Given the description of an element on the screen output the (x, y) to click on. 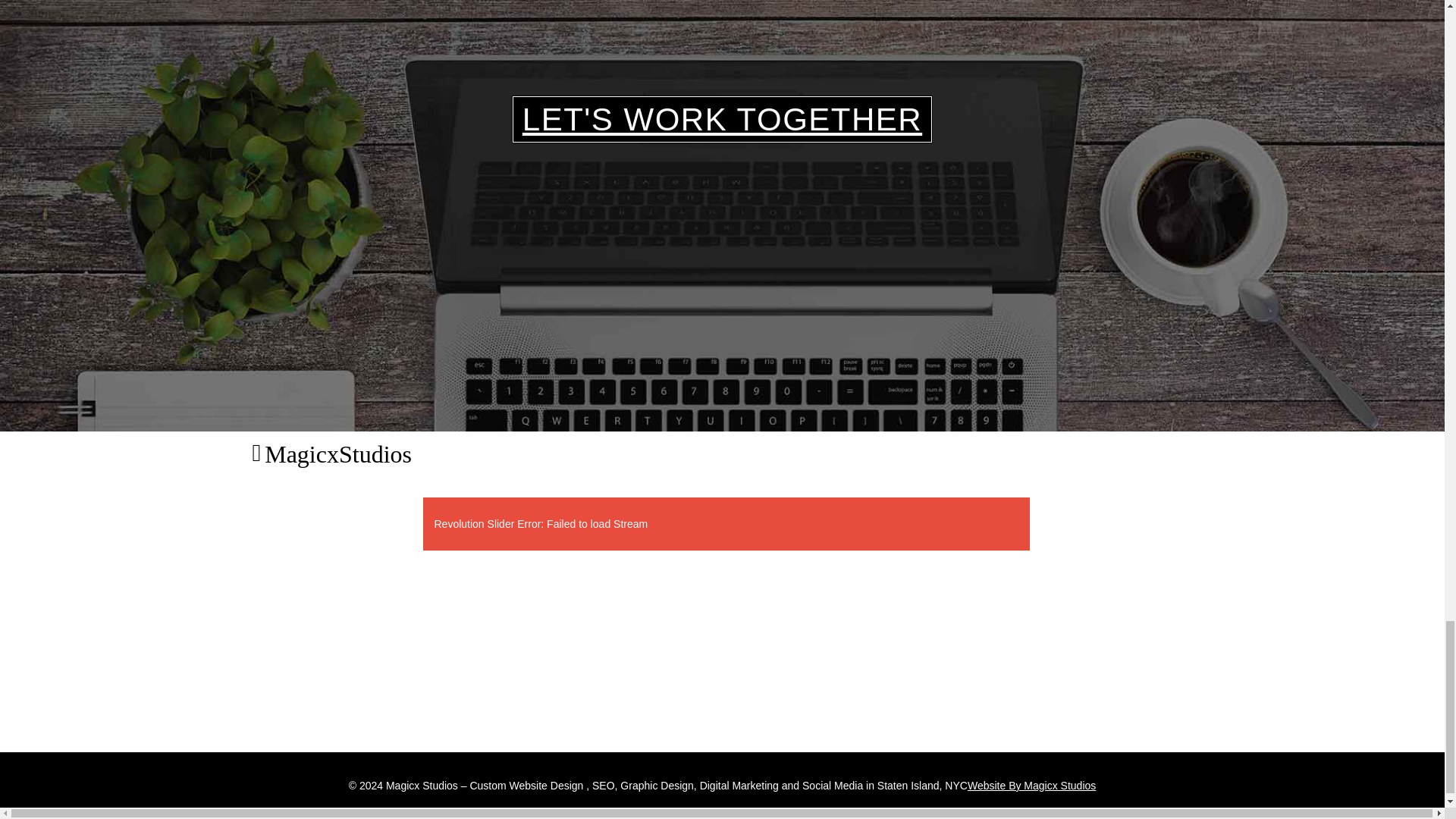
LET'S WORK TOGETHER (721, 119)
Website By Magicx Studios (1032, 785)
